Given the description of an element on the screen output the (x, y) to click on. 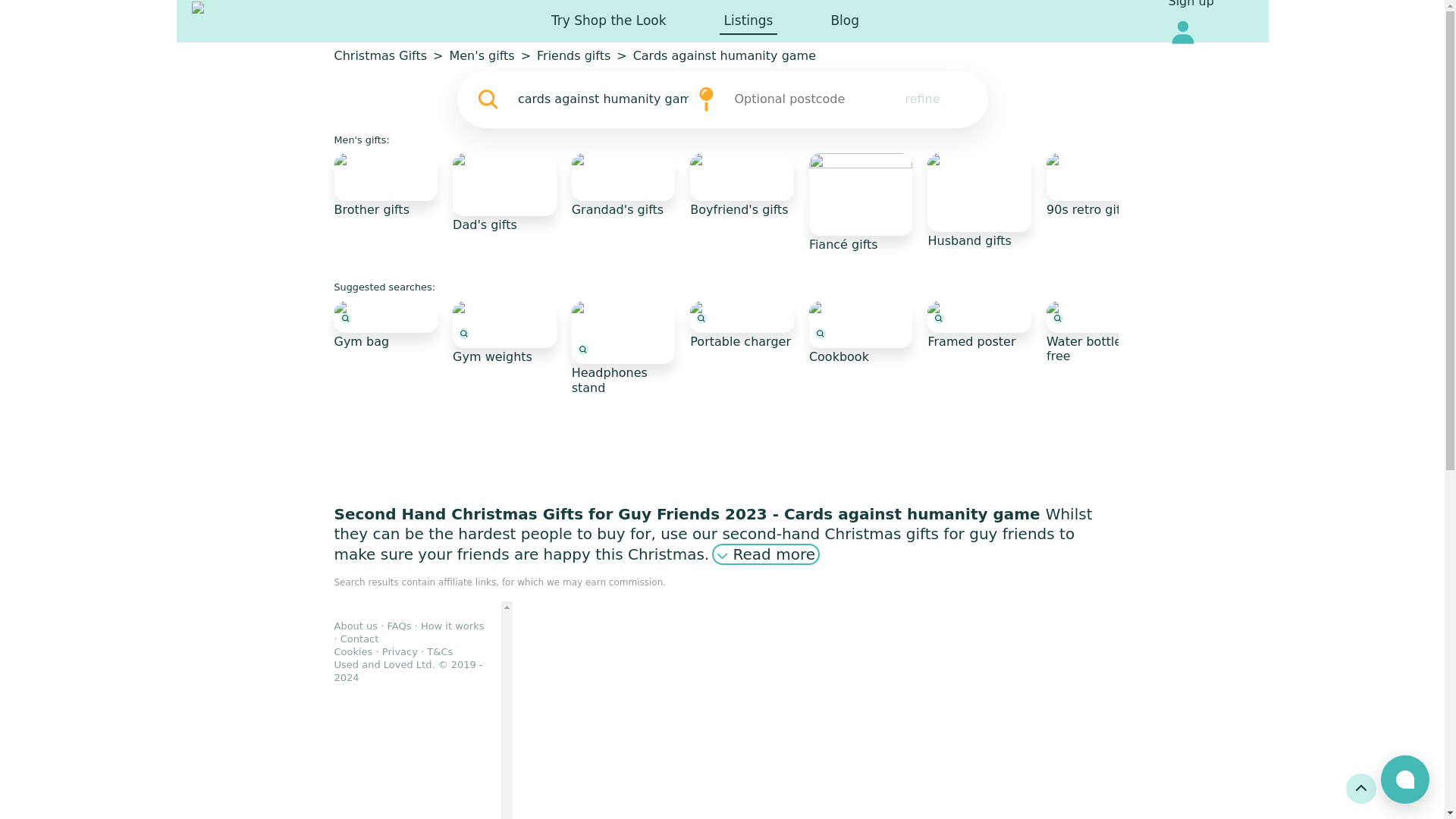
Try Shop the Look (609, 21)
Used and Loved (236, 20)
Men's gifts (480, 56)
Sign up (1190, 6)
Brother gifts (385, 185)
refine (922, 98)
Christmas Gifts (379, 56)
cards against humanity game (603, 98)
Grandad's gifts (623, 185)
Boyfriend's gifts (741, 185)
Blog (844, 21)
Scroll to top (1360, 788)
90s retro gifts (1098, 185)
Scroll to top (1360, 788)
Dad's gifts (504, 192)
